Given the description of an element on the screen output the (x, y) to click on. 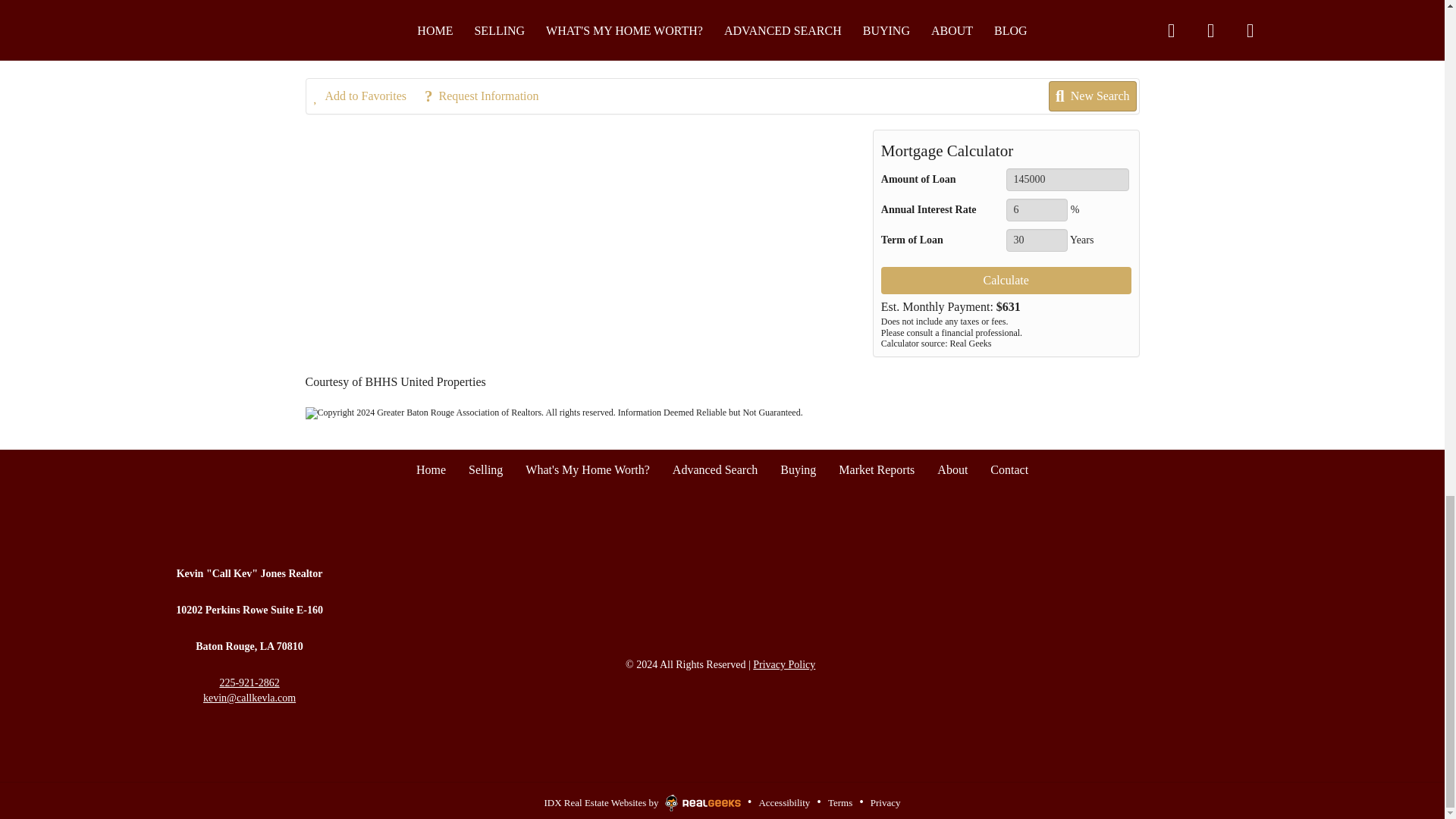
30 (1036, 240)
145000 (1067, 179)
6 (1036, 210)
